Given the description of an element on the screen output the (x, y) to click on. 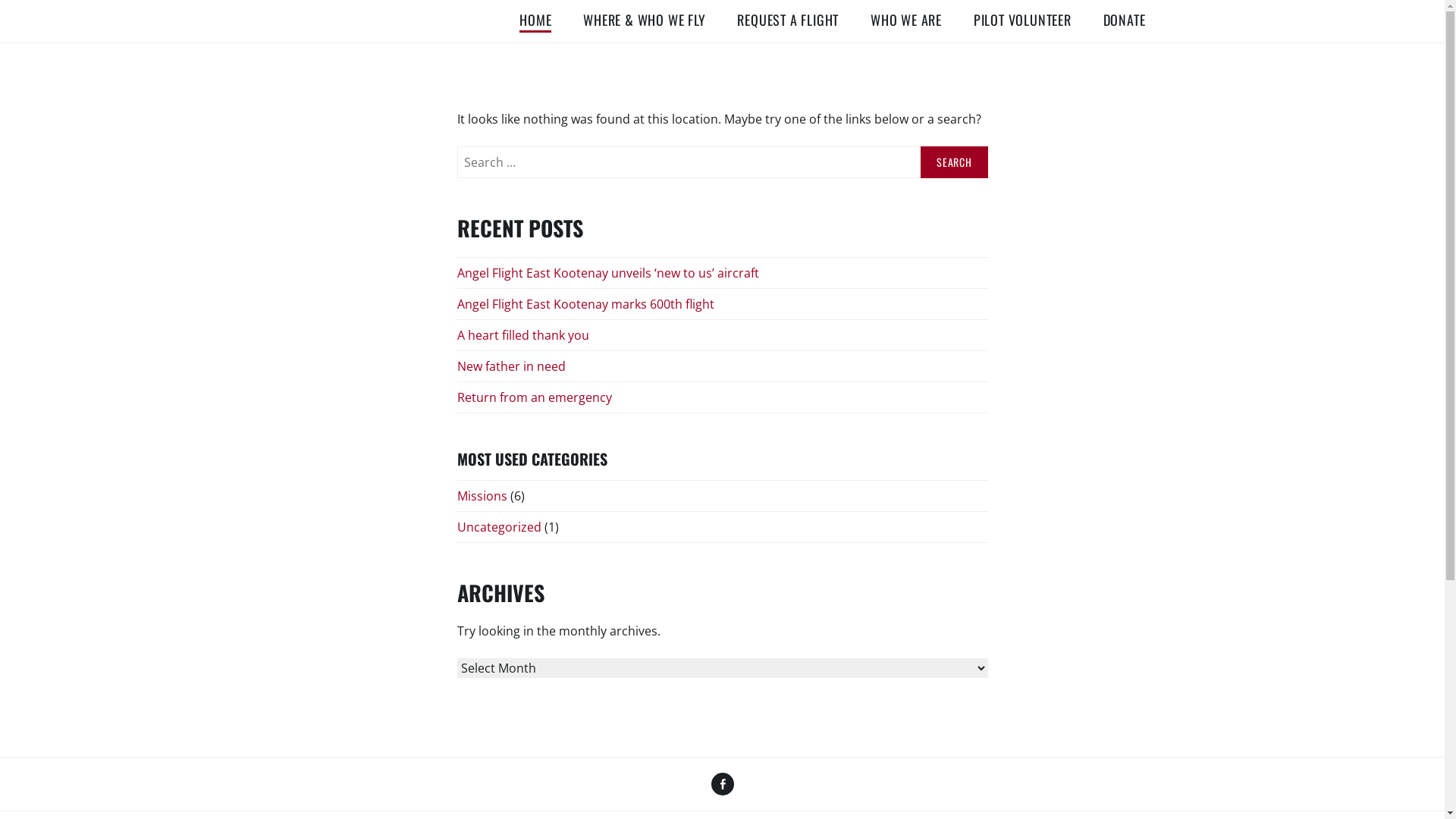
A heart filled thank you Element type: text (522, 335)
New father in need Element type: text (510, 366)
Missions Element type: text (481, 496)
HOME Element type: text (535, 20)
Uncategorized Element type: text (498, 527)
REQUEST A FLIGHT Element type: text (787, 20)
Search Element type: text (953, 162)
Return from an emergency Element type: text (533, 398)
DONATE Element type: text (1124, 20)
WHO WE ARE Element type: text (905, 20)
Angel Flight East Kootenay marks 600th flight Element type: text (584, 304)
PILOT VOLUNTEER Element type: text (1022, 20)
WHERE & WHO WE FLY Element type: text (644, 20)
